Given the description of an element on the screen output the (x, y) to click on. 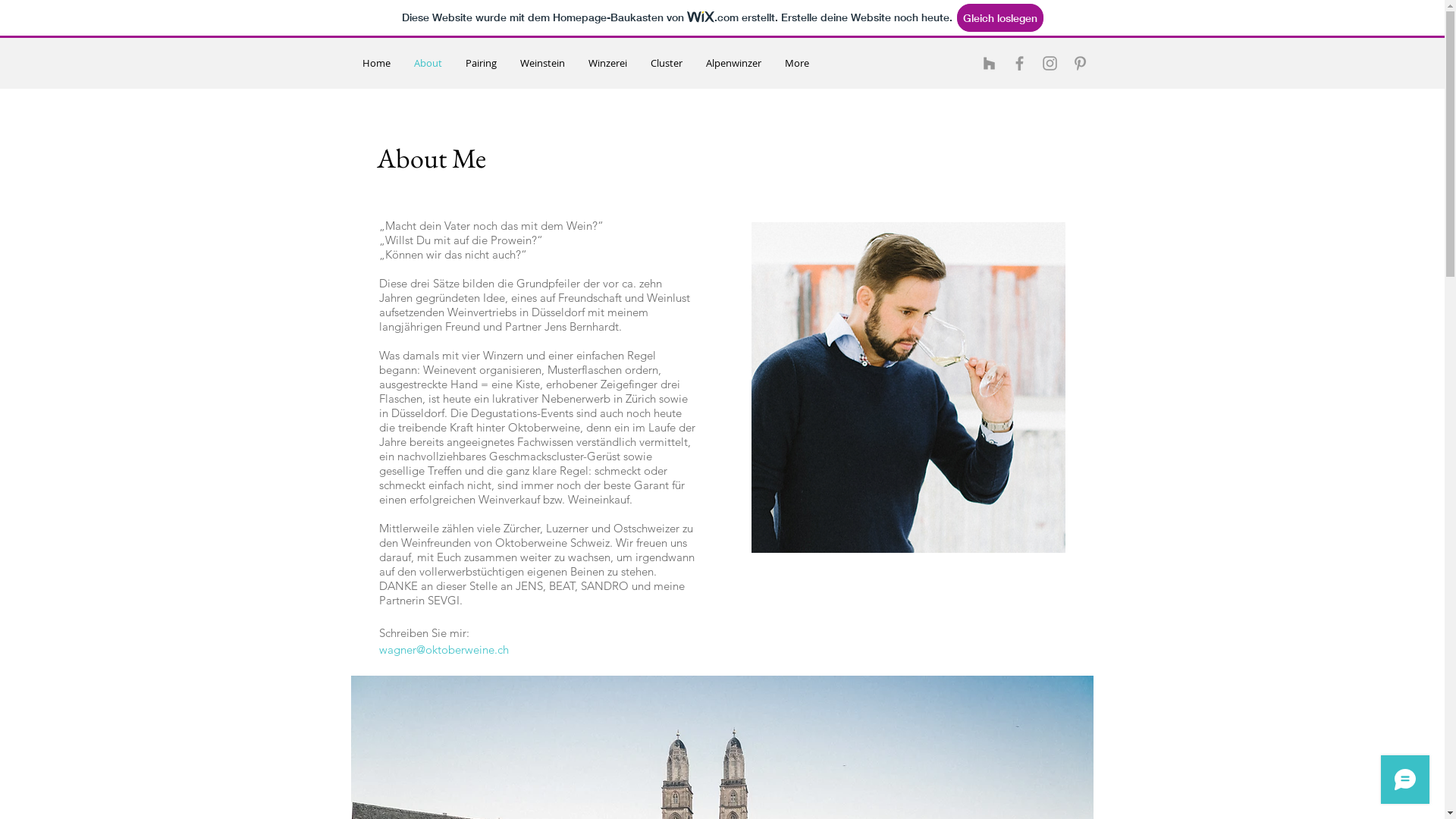
Alpenwinzer Element type: text (733, 63)
Winzerei Element type: text (606, 63)
About Element type: text (426, 63)
Weinstein Element type: text (541, 63)
Pairing Element type: text (480, 63)
Cluster Element type: text (665, 63)
wagner@oktoberweine.ch Element type: text (443, 649)
Home Element type: text (375, 63)
Site Search Element type: hover (908, 63)
TWIPLA (Visitor Analytics) Element type: hover (858, 150)
